Given the description of an element on the screen output the (x, y) to click on. 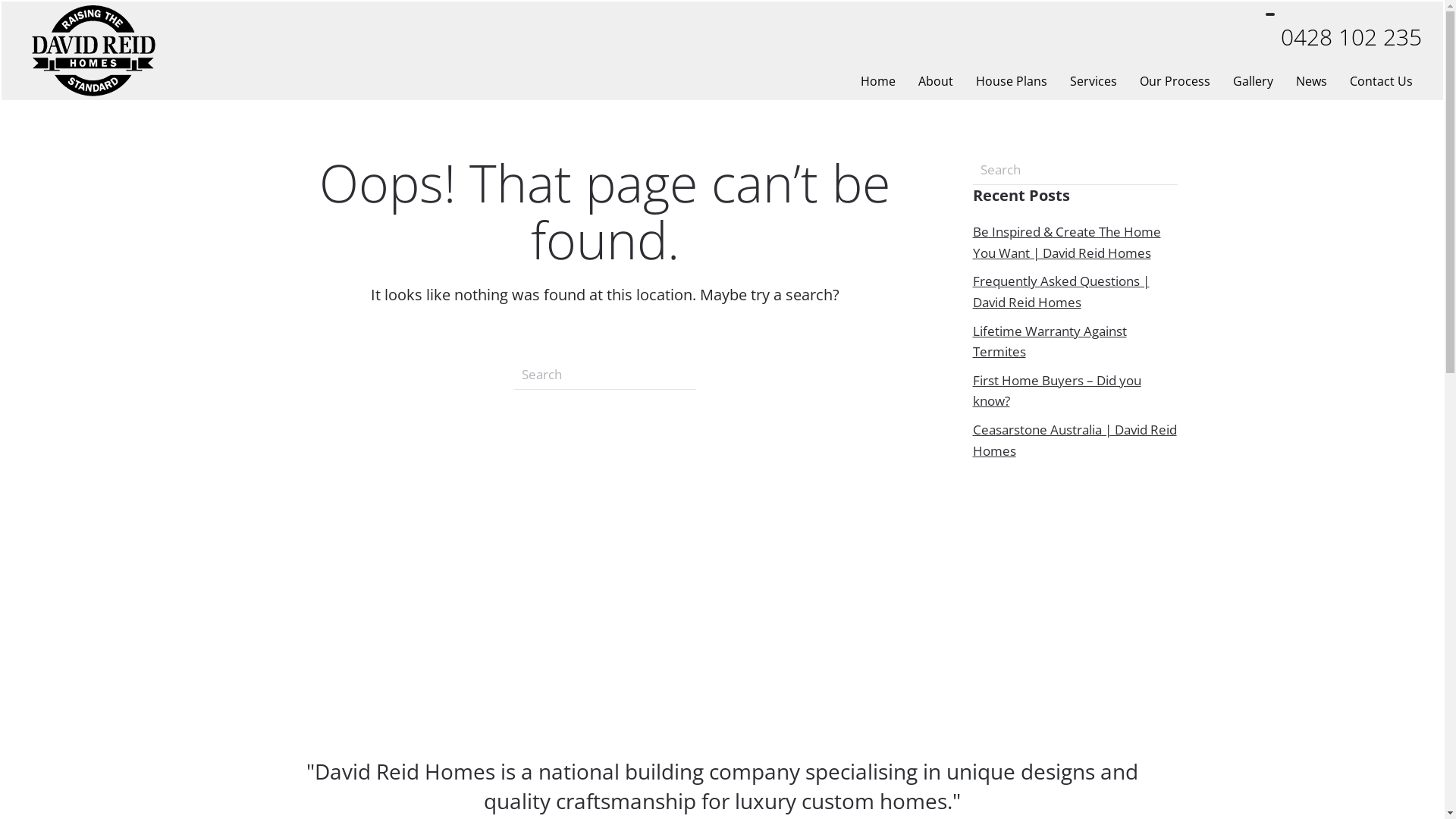
News Element type: text (1311, 81)
House Plans Element type: text (1011, 81)
Services Element type: text (1093, 81)
Lifetime Warranty Against Termites Element type: text (1049, 340)
0428 102 235 Element type: text (1350, 37)
Frequently Asked Questions | David Reid Homes Element type: text (1060, 291)
Ceasarstone Australia | David Reid Homes Element type: text (1074, 439)
Our Process Element type: text (1174, 81)
Home Element type: text (877, 81)
Gallery Element type: text (1253, 81)
Be Inspired & Create The Home You Want | David Reid Homes Element type: text (1066, 241)
About Element type: text (935, 81)
Contact Us Element type: text (1380, 81)
